Given the description of an element on the screen output the (x, y) to click on. 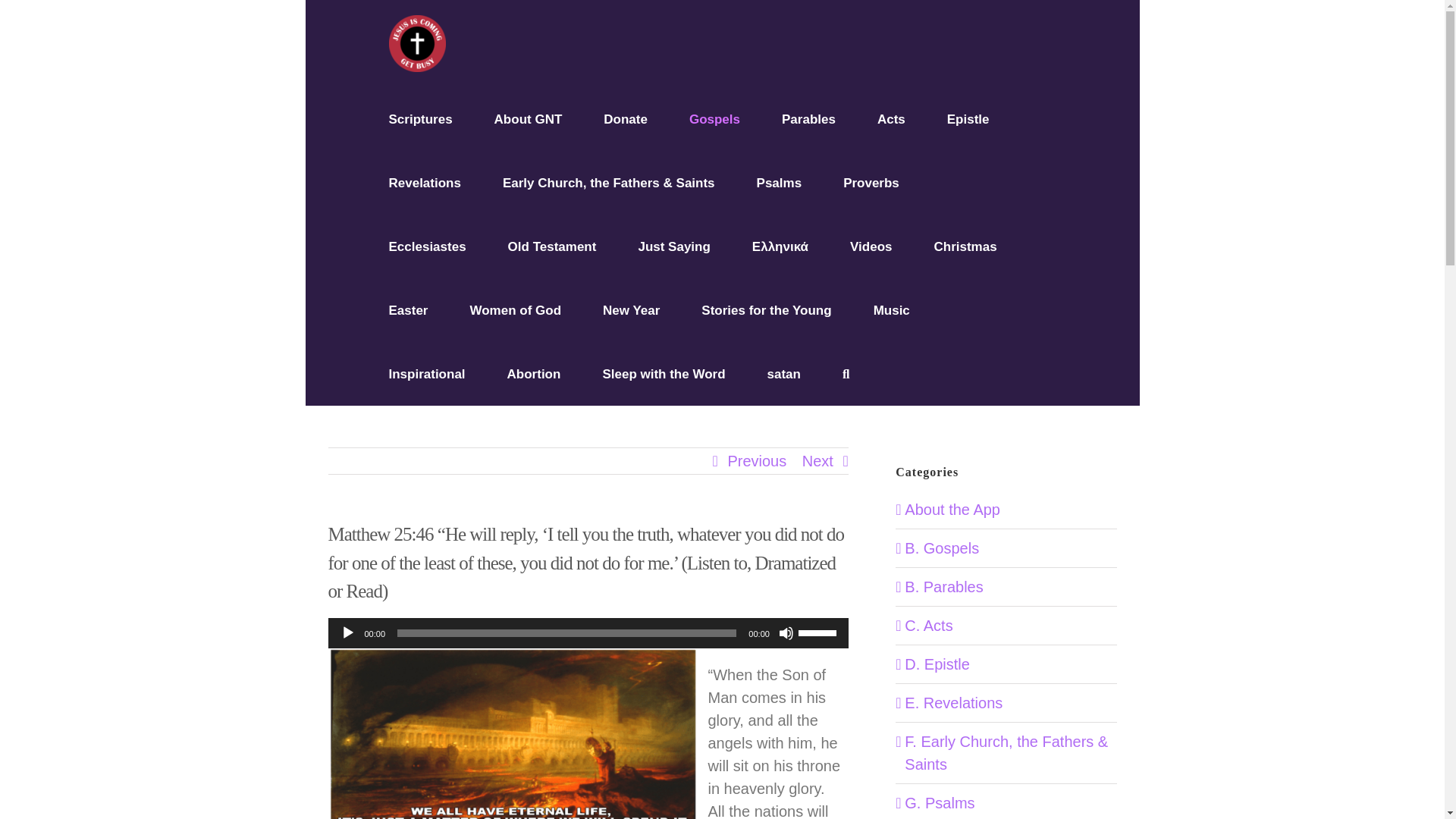
Revelations (424, 182)
Women of God (514, 310)
Stories for the Young (766, 310)
Christmas (964, 246)
Sleep with the Word (663, 373)
Scriptures (419, 118)
Inspirational (426, 373)
About GNT (528, 118)
Ecclesiastes (426, 246)
Mute (785, 632)
